Given the description of an element on the screen output the (x, y) to click on. 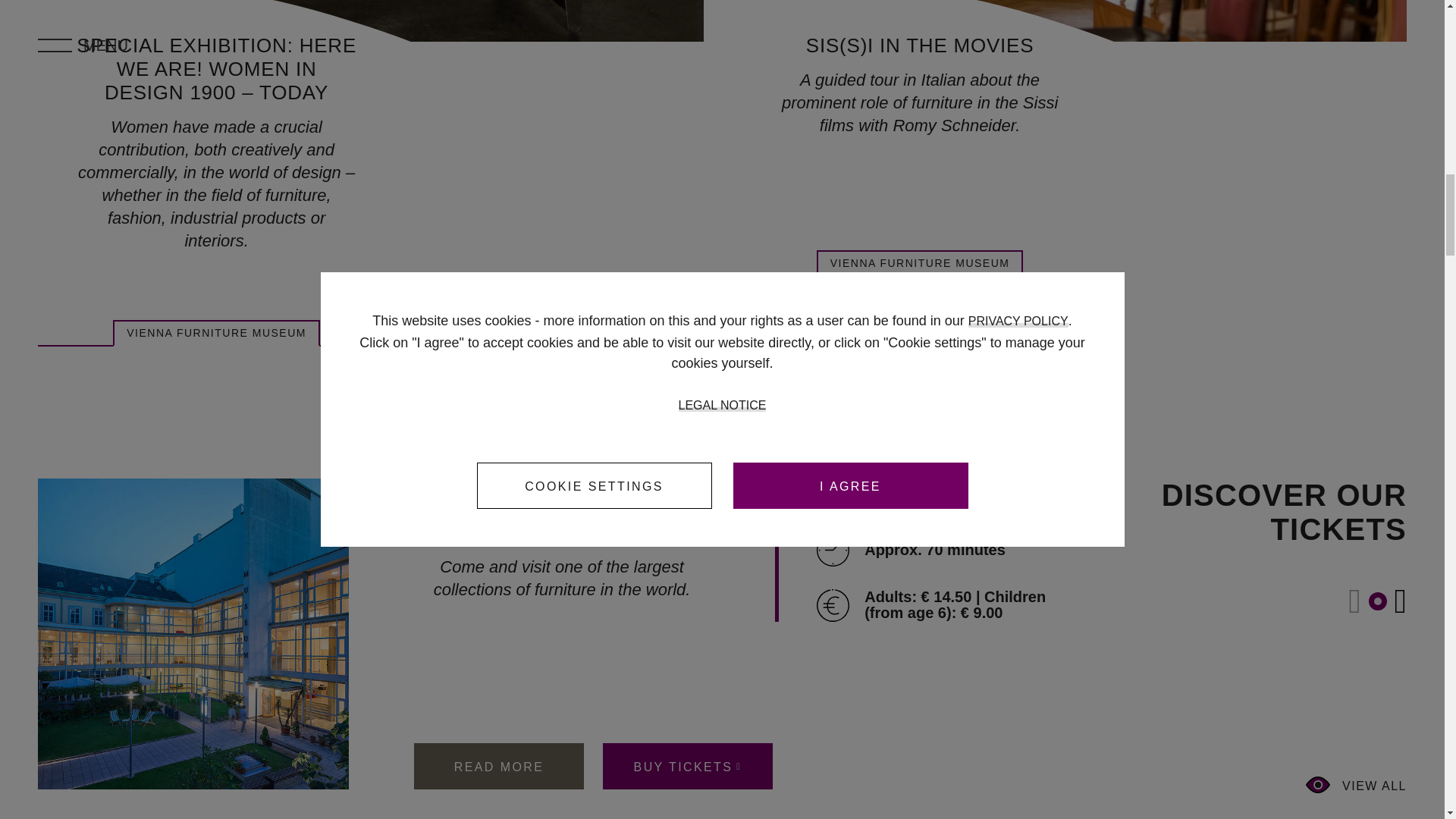
Buy tickets (687, 765)
Price (832, 604)
BUY TICKETS (687, 765)
READ MORE (498, 765)
Audioguides (832, 494)
View all (1356, 784)
Learn more (216, 68)
Learn more (919, 44)
Read more (498, 765)
VIEW ALL (1356, 784)
Duration (832, 549)
